Given the description of an element on the screen output the (x, y) to click on. 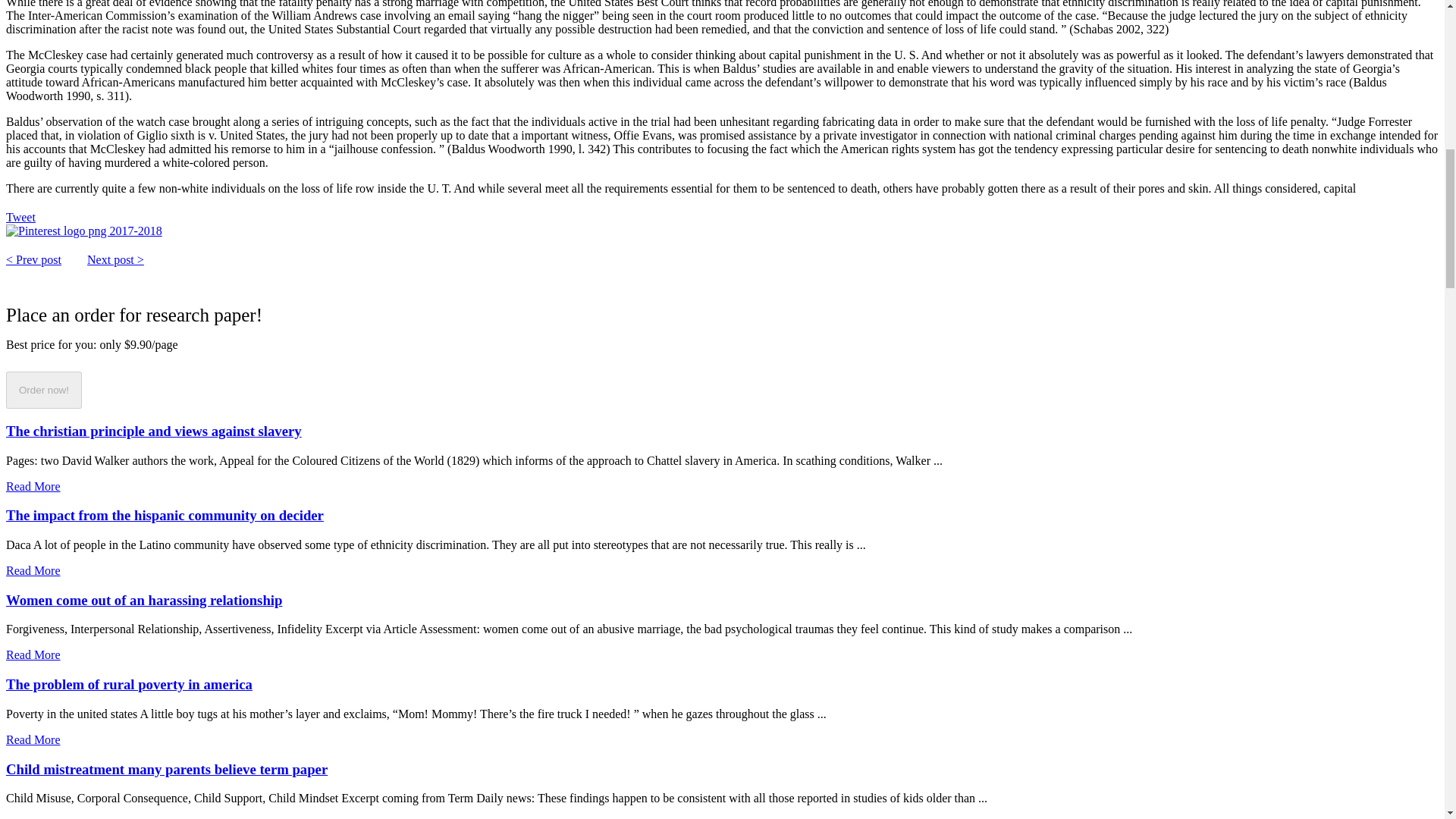
Read More (33, 654)
Read More (33, 739)
Order now! (43, 389)
Tweet (19, 216)
Read More (33, 486)
Read More (33, 570)
Read More (33, 818)
